Given the description of an element on the screen output the (x, y) to click on. 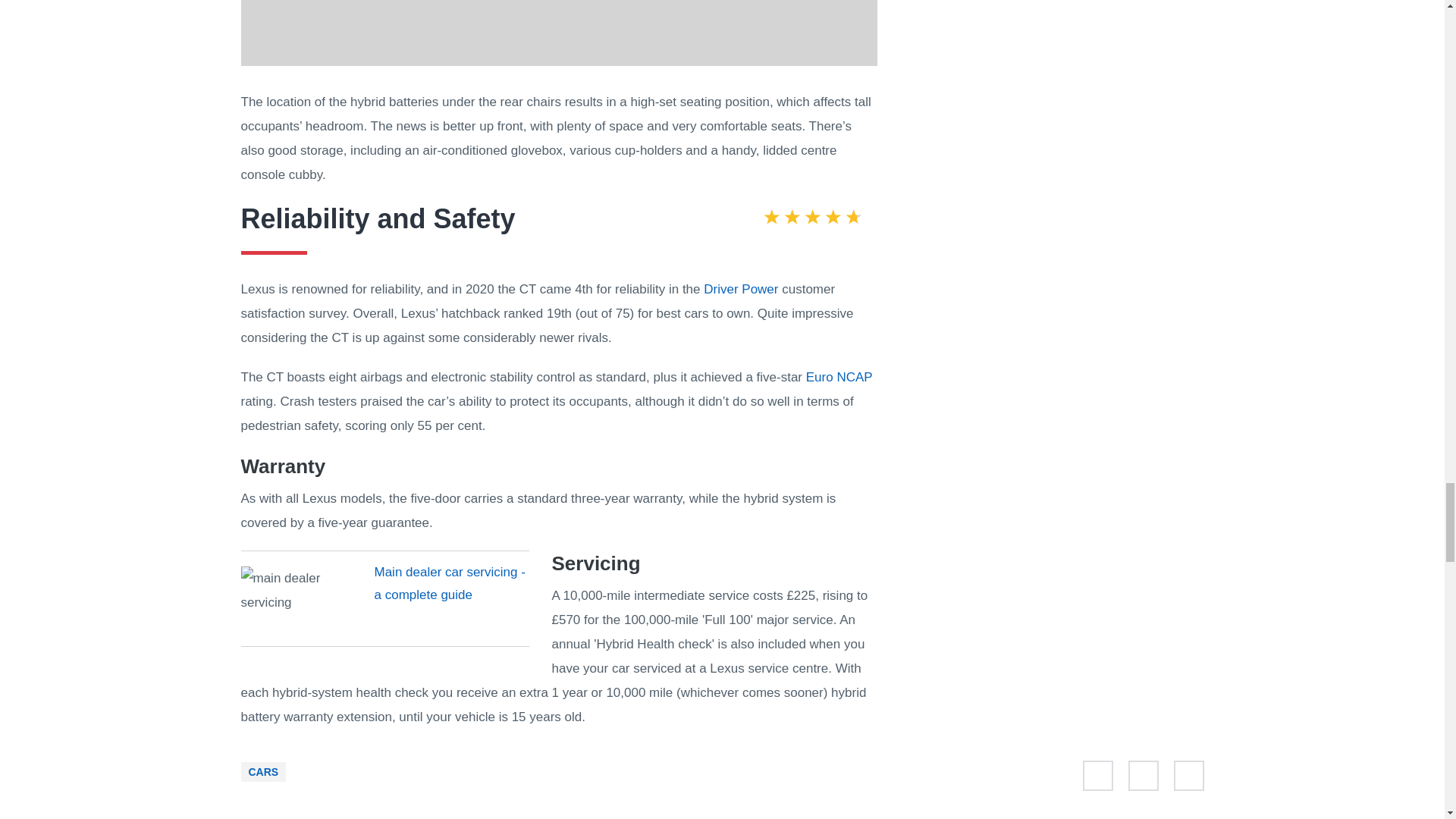
4.7 Stars (811, 219)
